Given the description of an element on the screen output the (x, y) to click on. 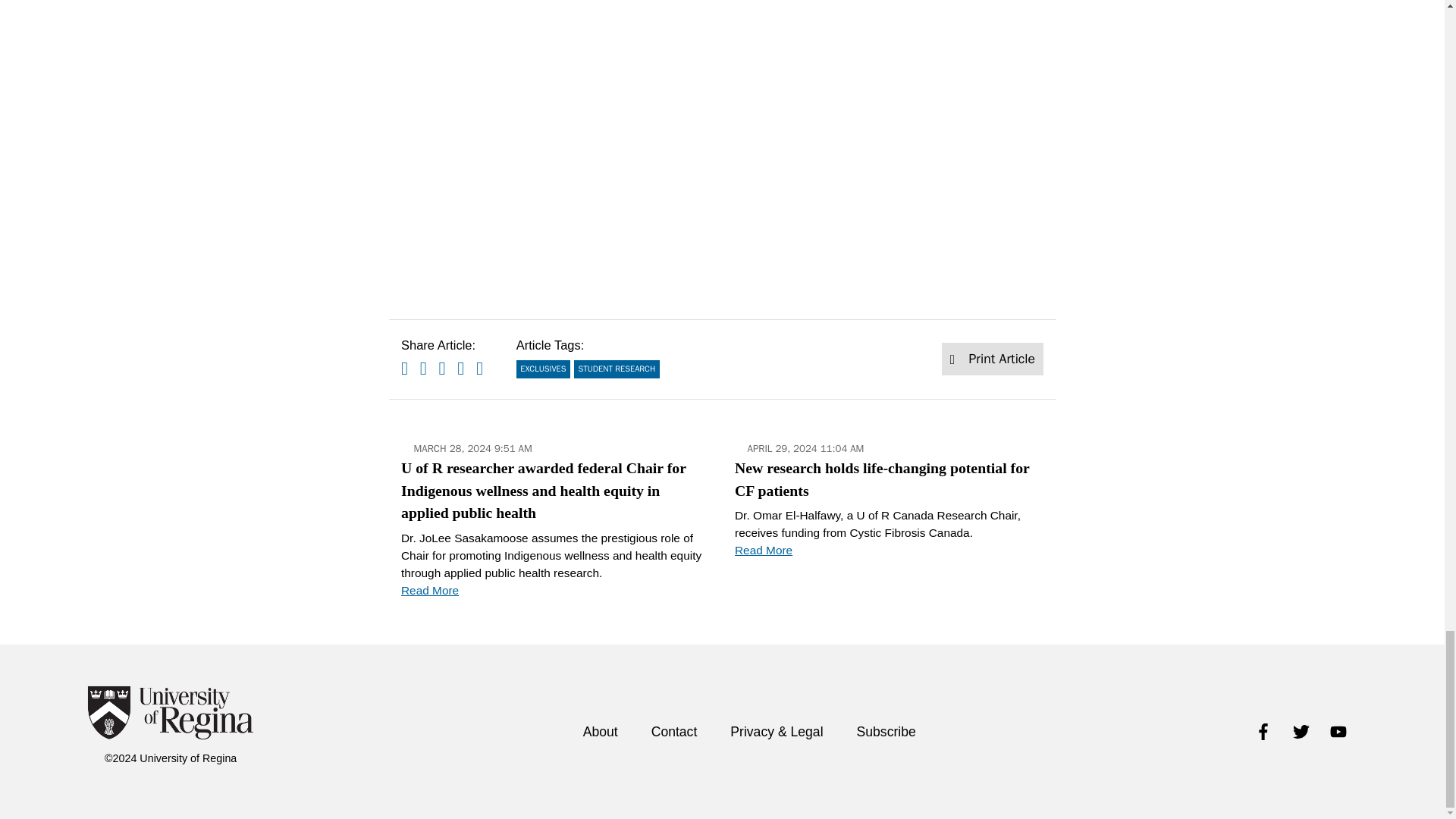
STUDENT RESEARCH (616, 369)
New research holds life-changing potential for CF patients (888, 517)
EXCLUSIVES (543, 369)
